Given the description of an element on the screen output the (x, y) to click on. 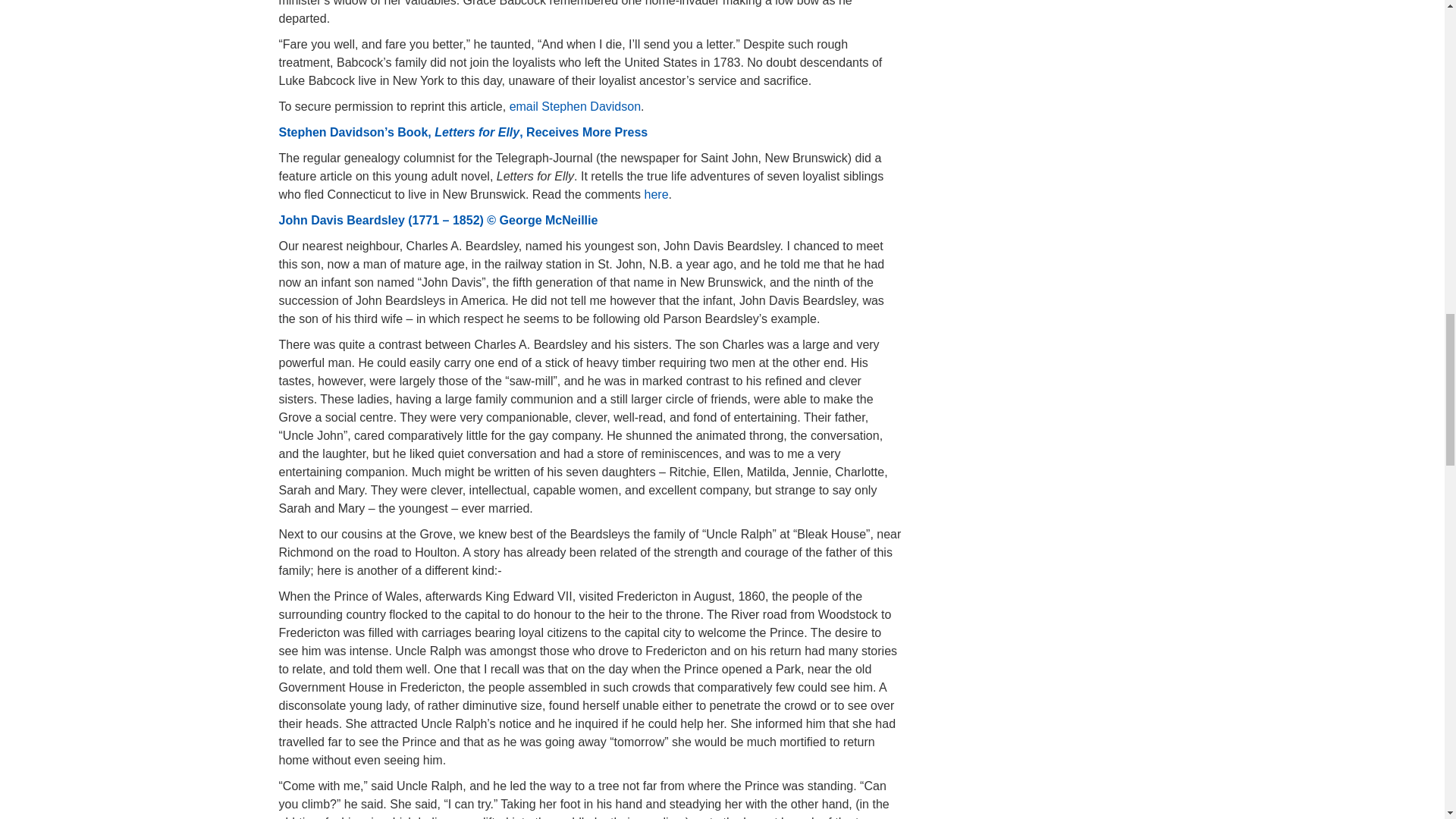
email Stephen Davidson (574, 106)
here (656, 194)
